Given the description of an element on the screen output the (x, y) to click on. 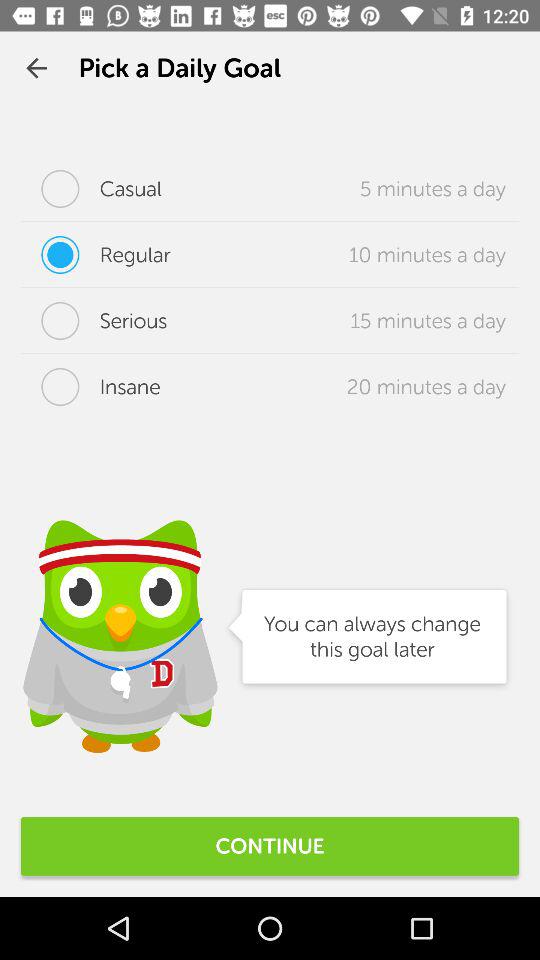
flip until continue icon (270, 846)
